Given the description of an element on the screen output the (x, y) to click on. 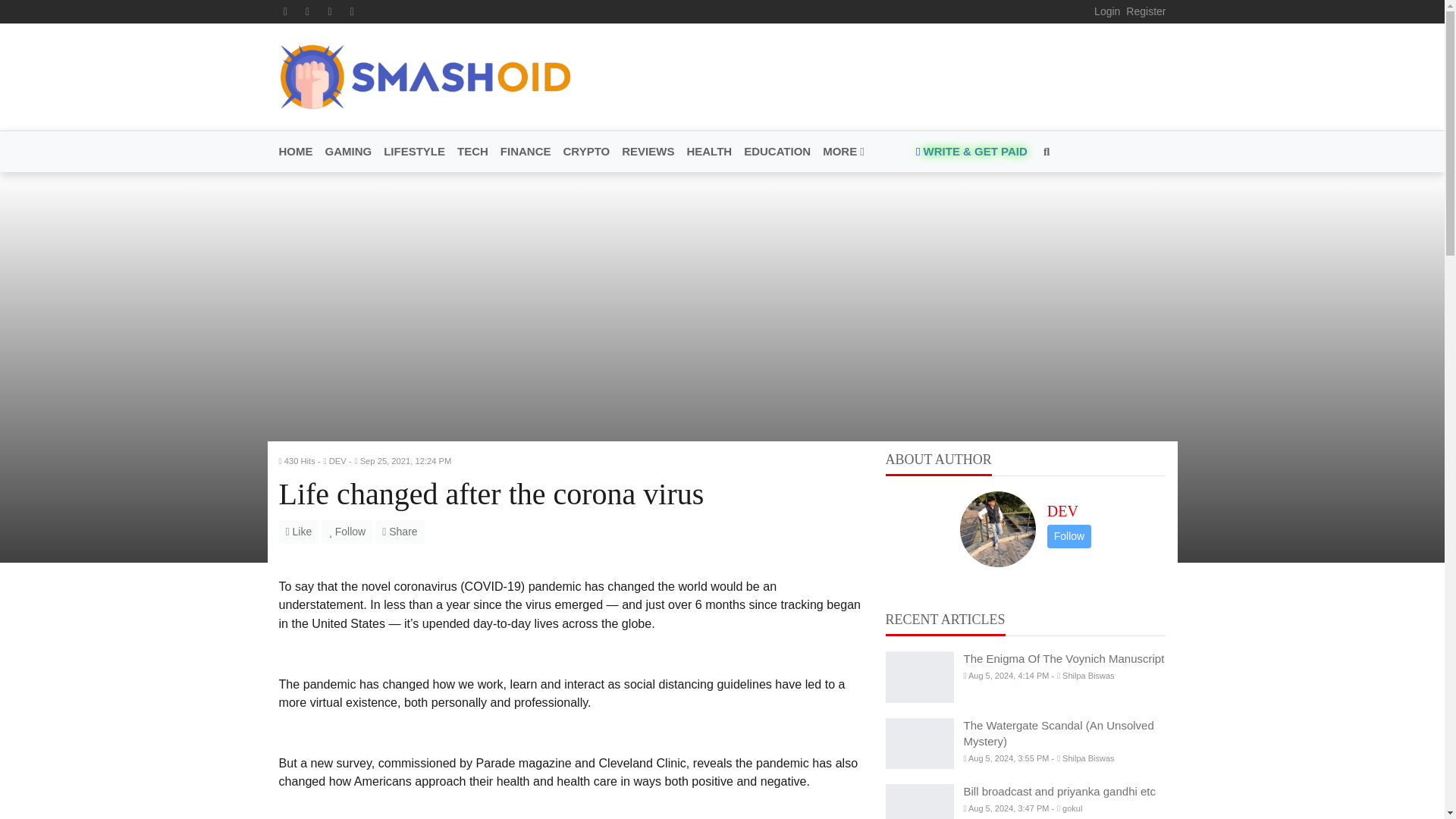
Bill broadcast and priyanka gandhi etc (919, 801)
GAMING (347, 152)
Pinterest (329, 11)
MORE (840, 152)
CRYPTO (586, 152)
Facebook (285, 11)
Register (1145, 10)
The Enigma Of The Voynich Manuscript (919, 676)
Published on (405, 461)
TECH (473, 152)
Google News (352, 11)
HOME (298, 152)
Twitter (307, 11)
Author (336, 461)
Login (1106, 10)
